Given the description of an element on the screen output the (x, y) to click on. 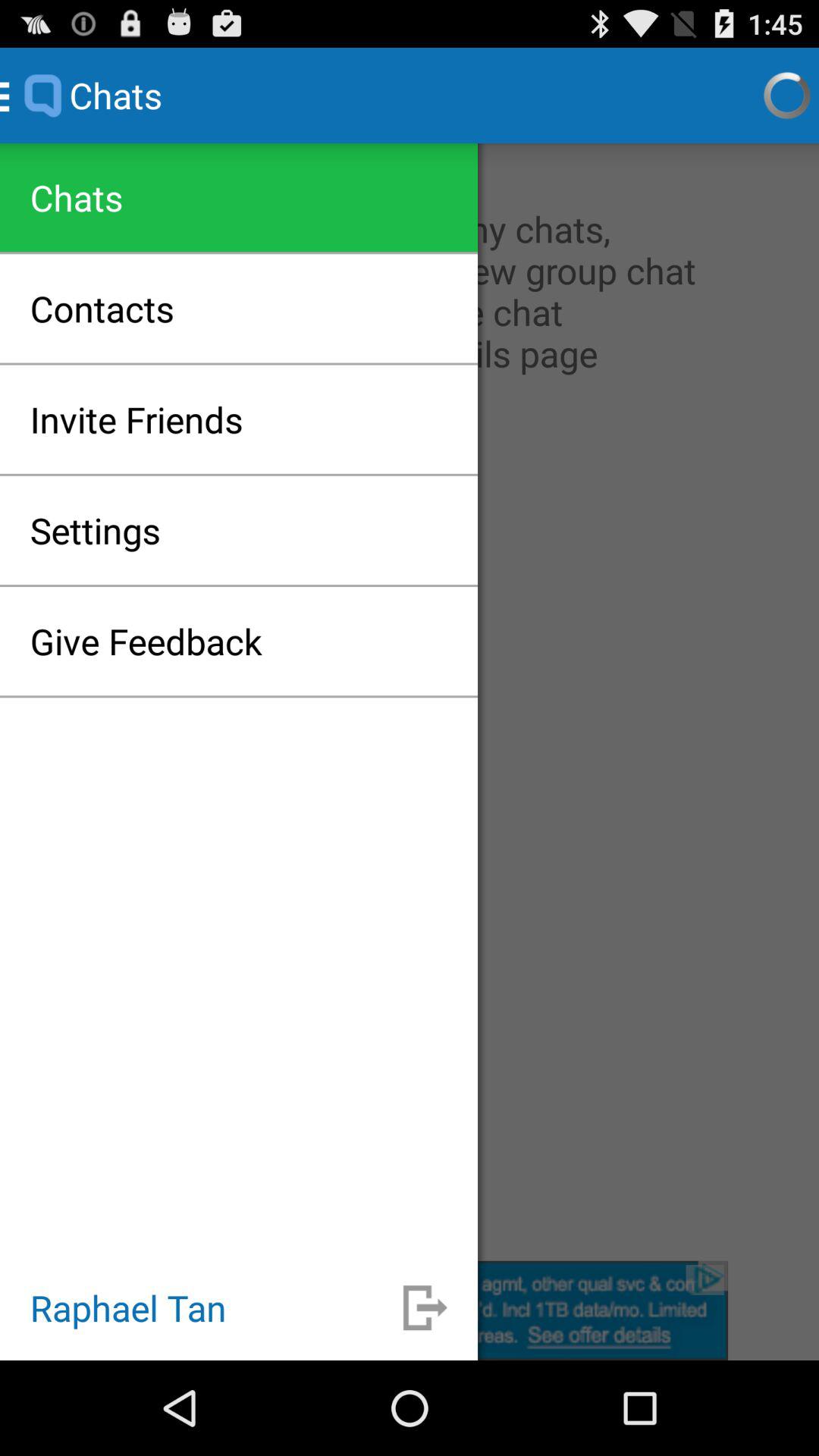
turn on app below chats icon (102, 308)
